Given the description of an element on the screen output the (x, y) to click on. 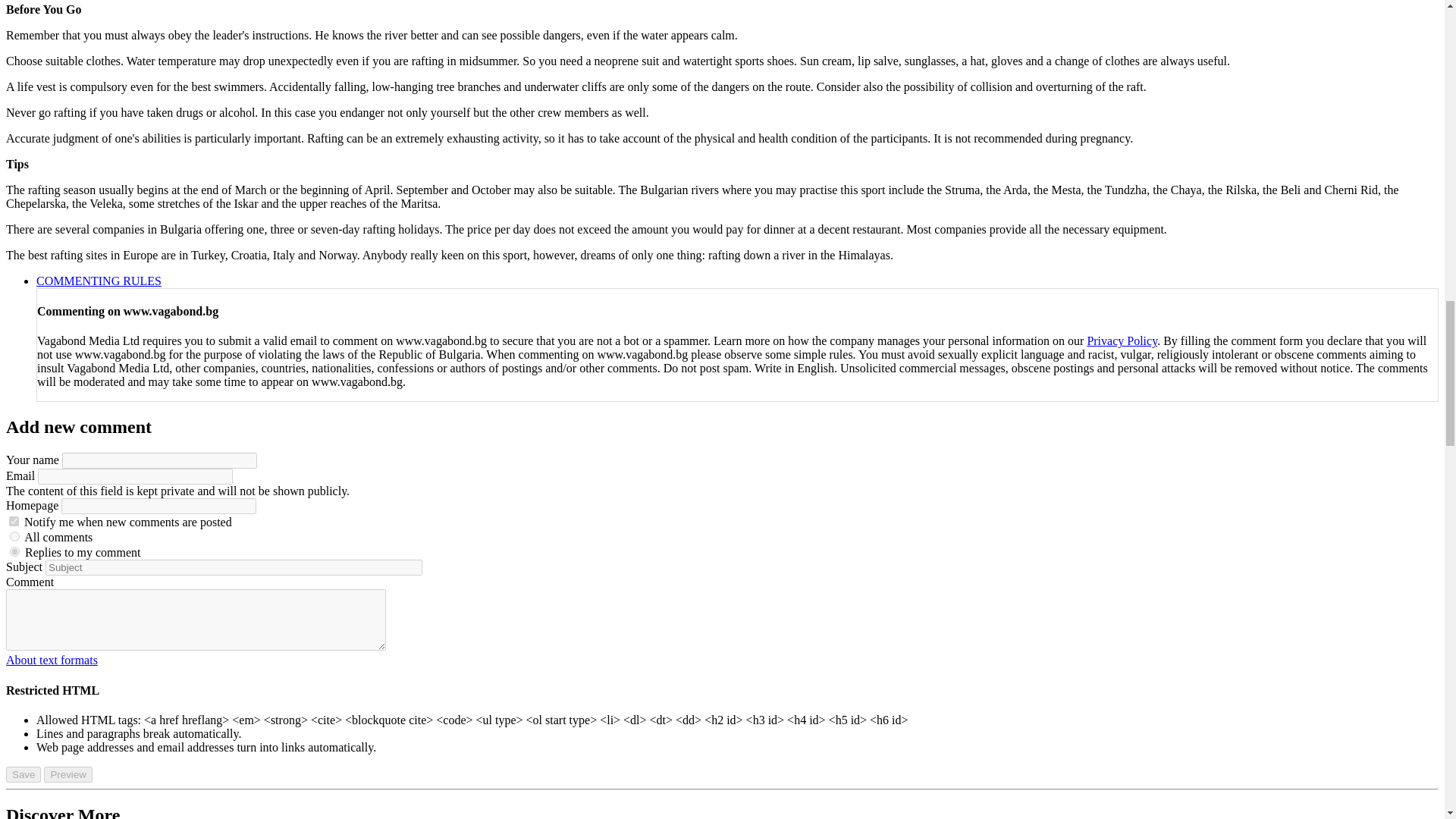
1 (13, 521)
1 (15, 536)
2 (15, 551)
Preview (67, 774)
Save (22, 774)
